Given the description of an element on the screen output the (x, y) to click on. 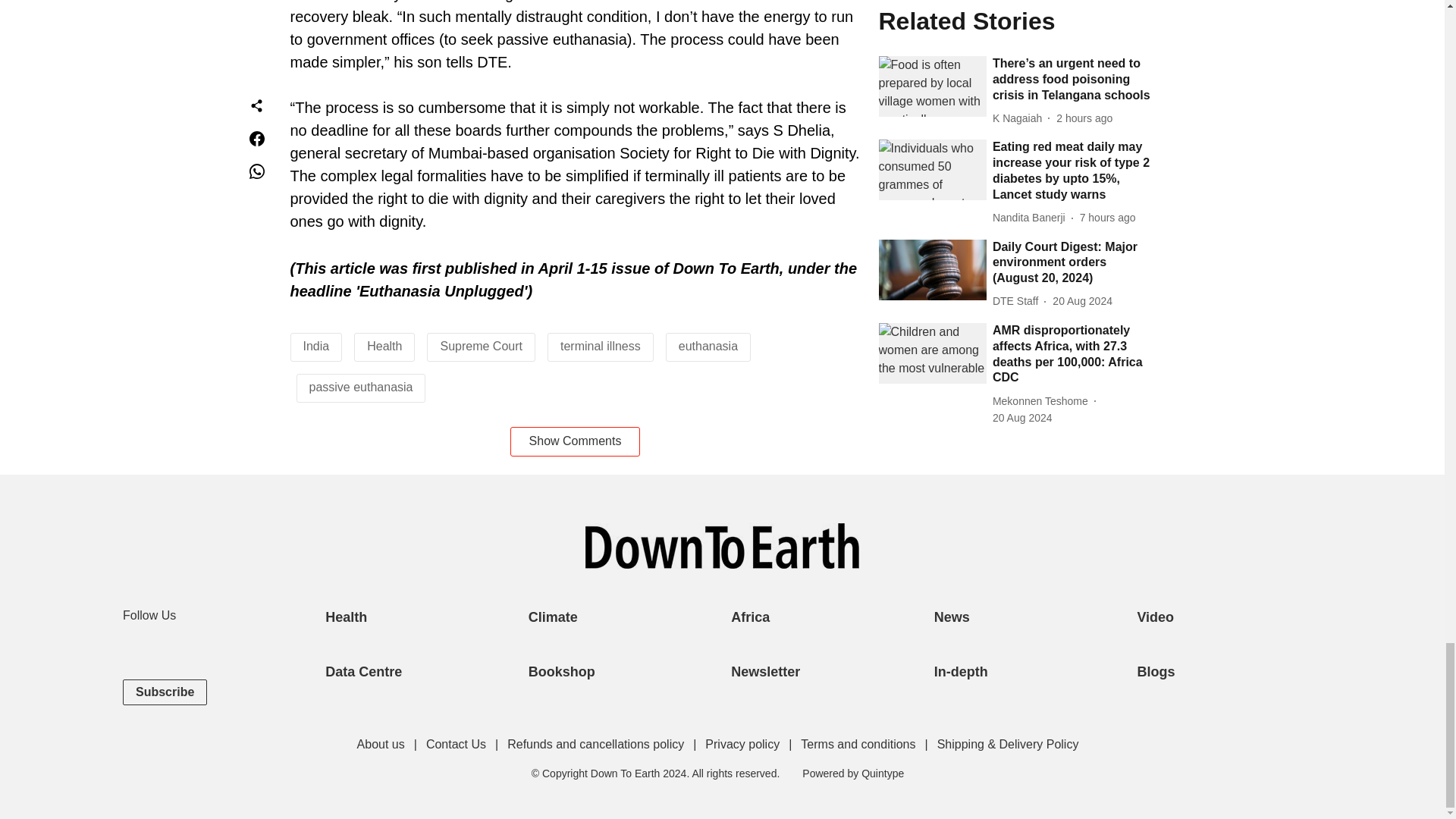
Supreme Court (480, 345)
India (316, 345)
terminal illness (600, 345)
Health (383, 345)
